Given the description of an element on the screen output the (x, y) to click on. 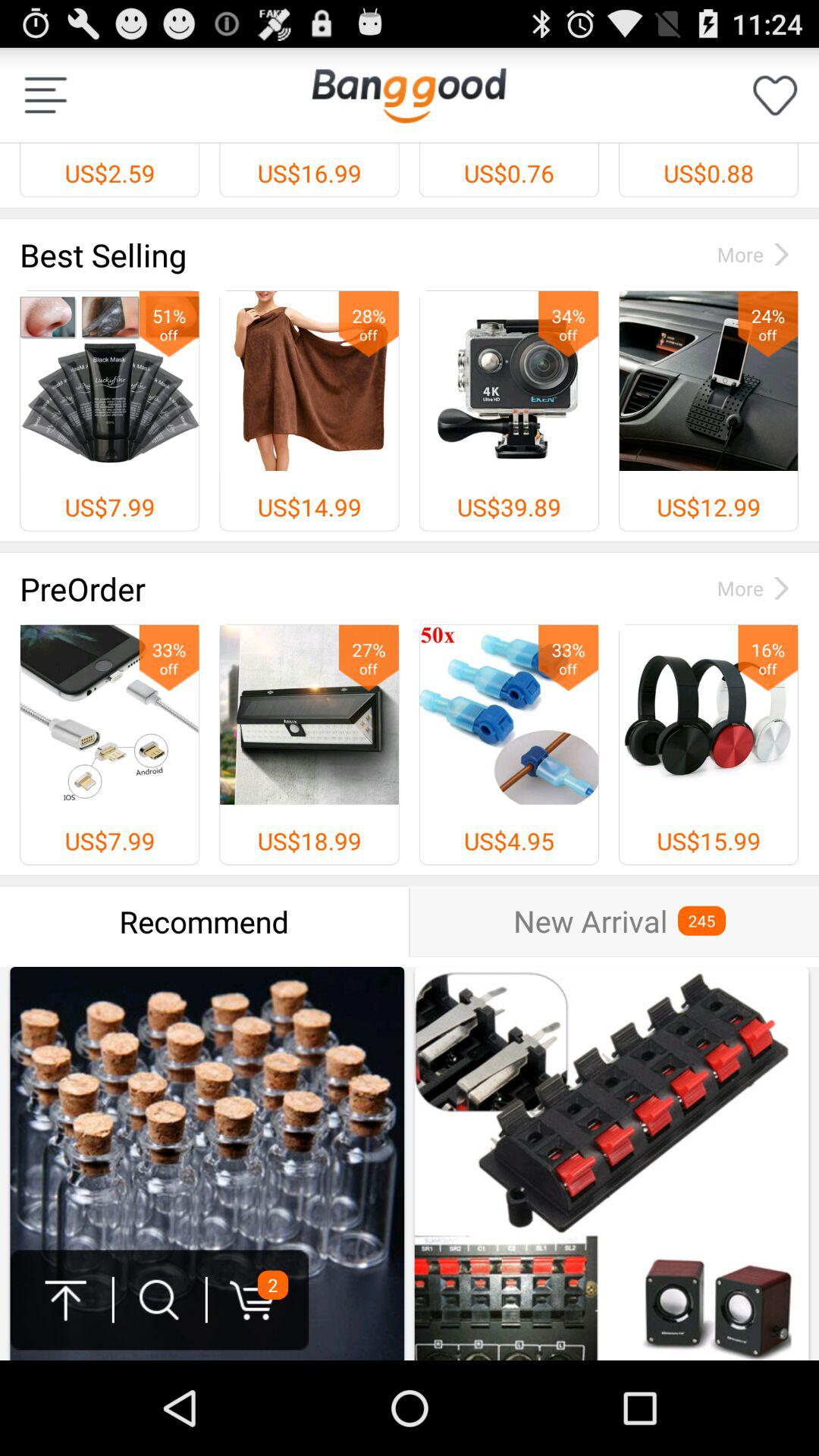
open app to the right of the us$2.59 (409, 95)
